Given the description of an element on the screen output the (x, y) to click on. 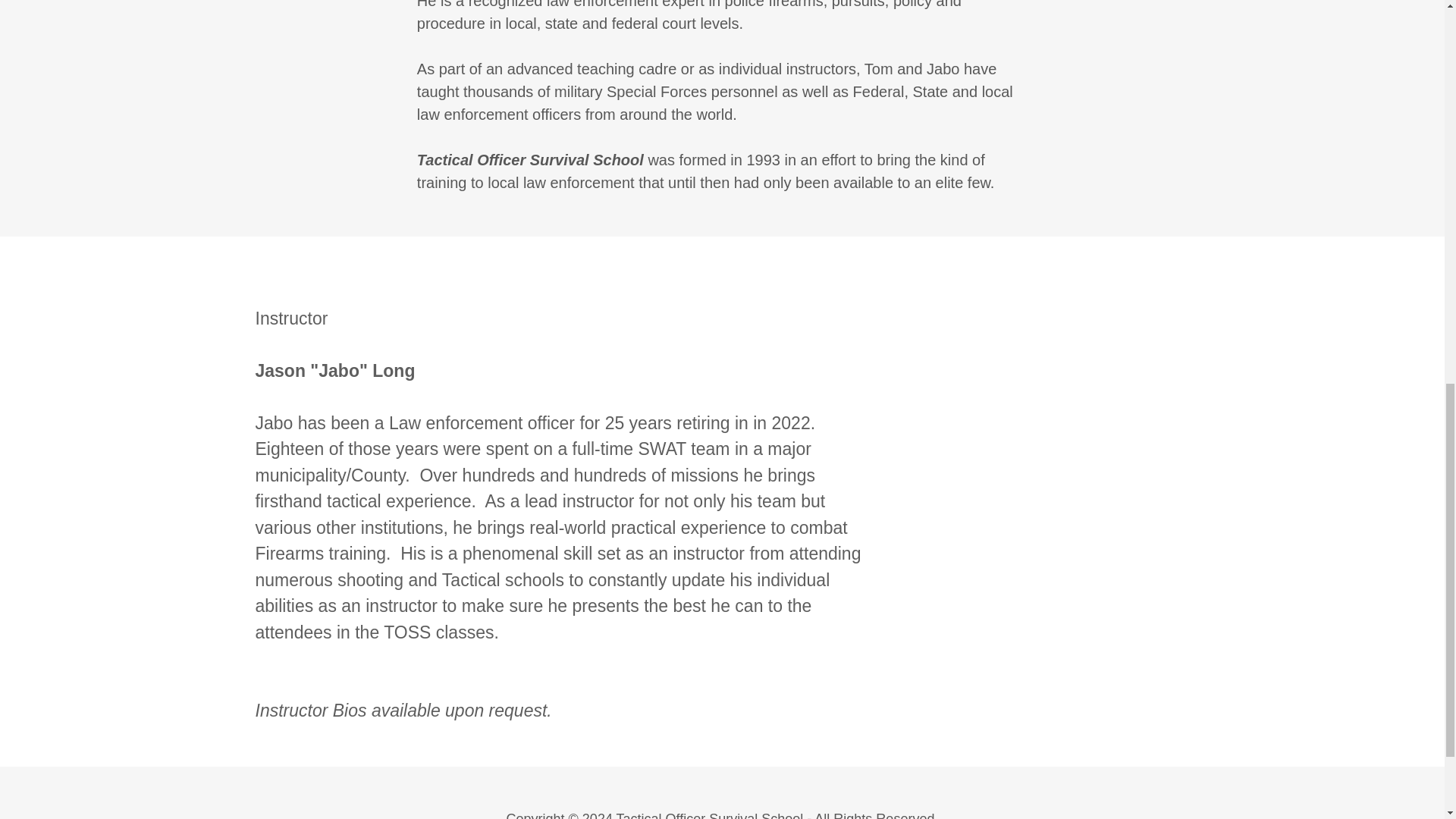
ACCEPT (1274, 324)
